Given the description of an element on the screen output the (x, y) to click on. 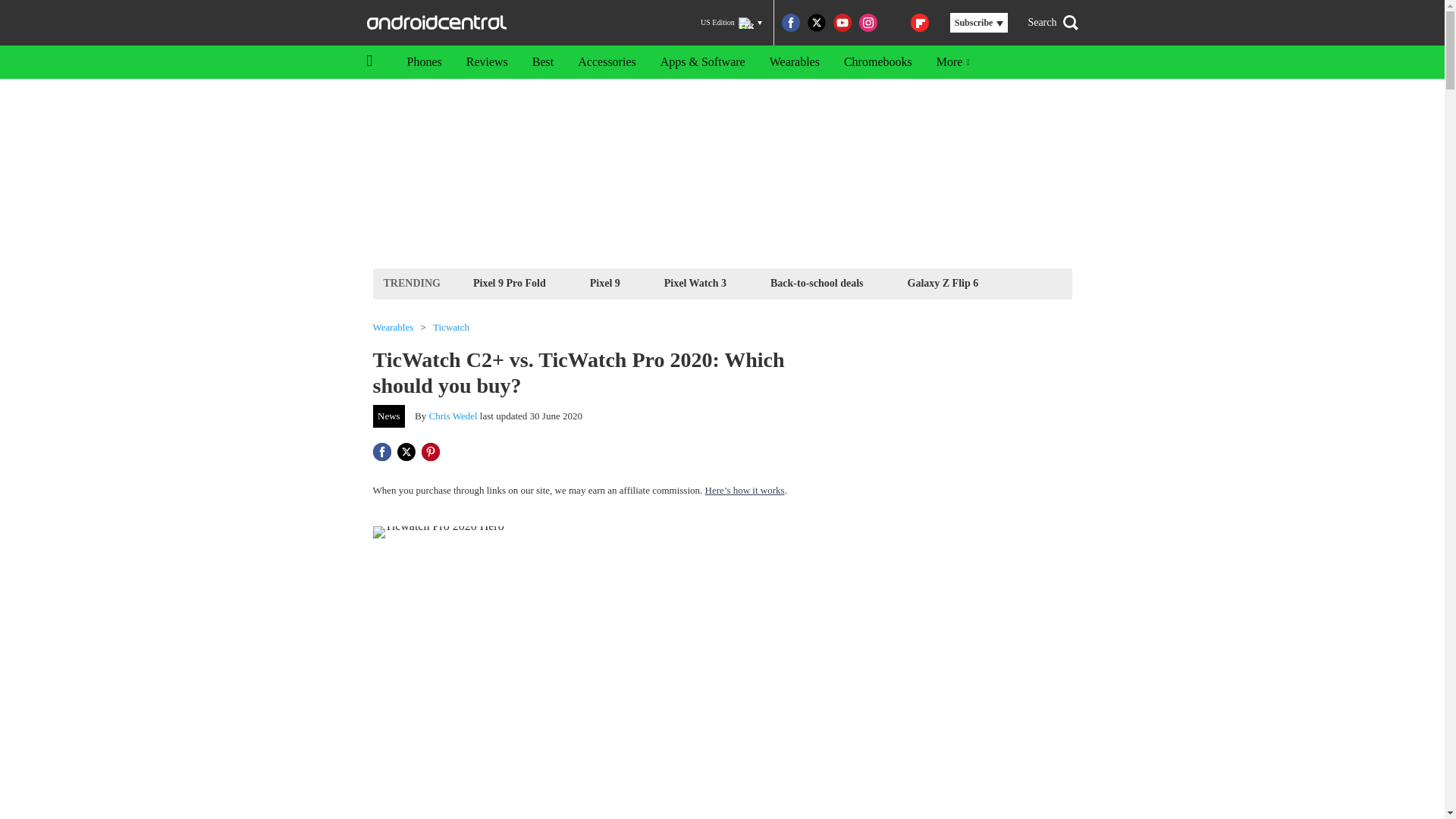
Ticwatch (450, 327)
Pixel 9 Pro Fold (509, 282)
Wearables (794, 61)
Pixel Watch 3 (695, 282)
Chris Wedel (453, 415)
US Edition (731, 22)
Accessories (606, 61)
Back-to-school deals (817, 282)
Pixel 9 (605, 282)
Phones (423, 61)
